Given the description of an element on the screen output the (x, y) to click on. 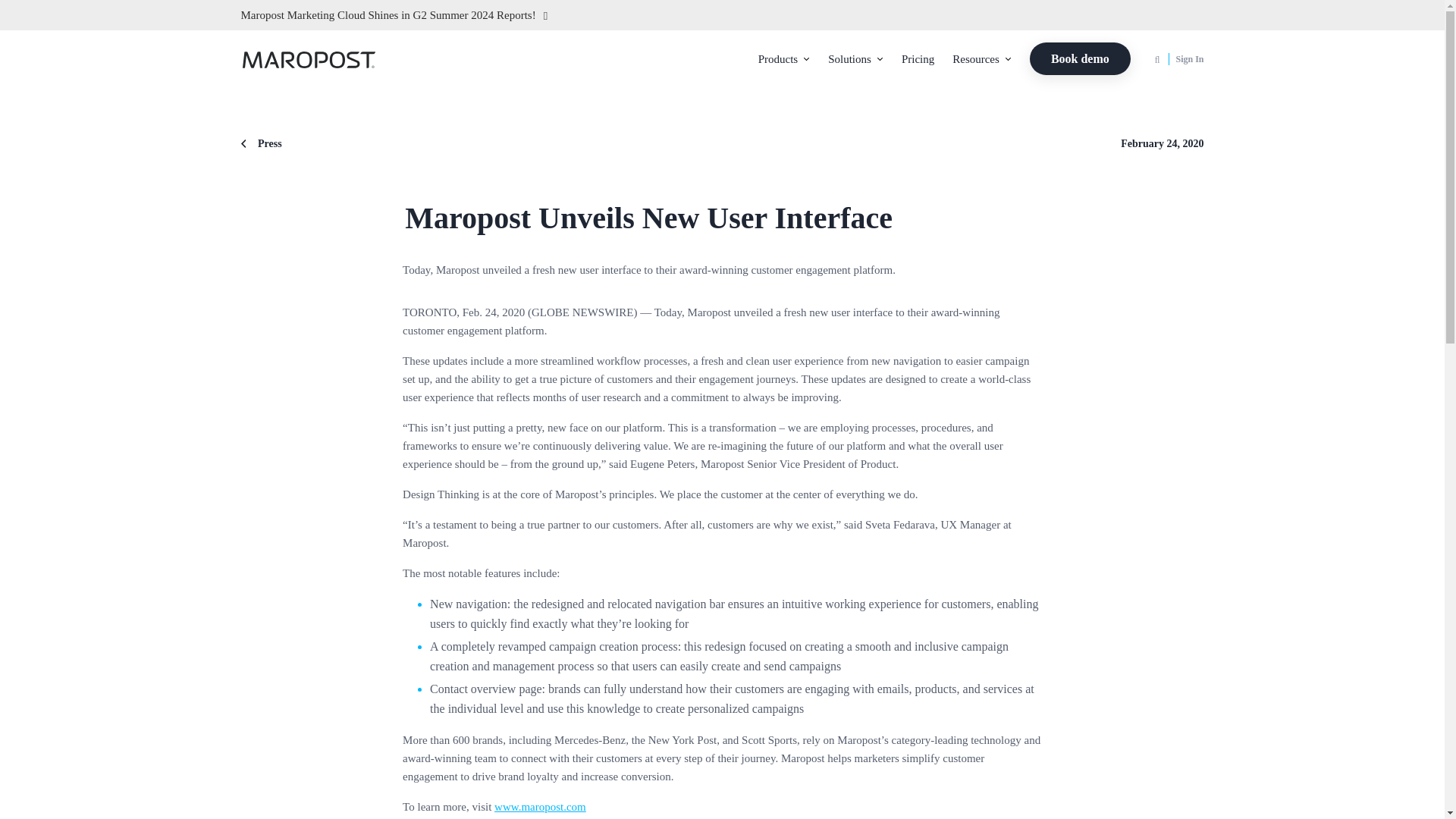
Maropost Marketing Cloud Shines in G2 Summer 2024 Reports! (558, 14)
